Given the description of an element on the screen output the (x, y) to click on. 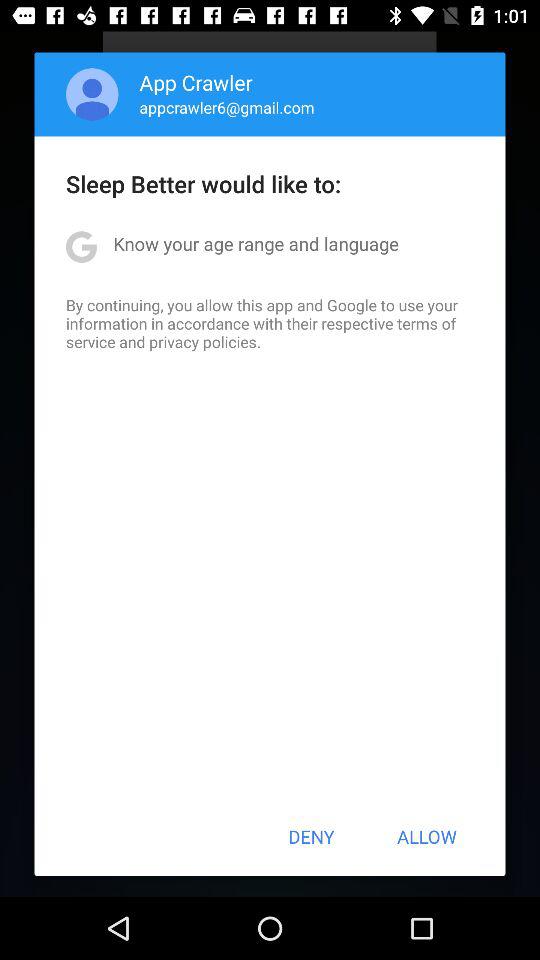
select icon above appcrawler6@gmail.com icon (195, 82)
